Given the description of an element on the screen output the (x, y) to click on. 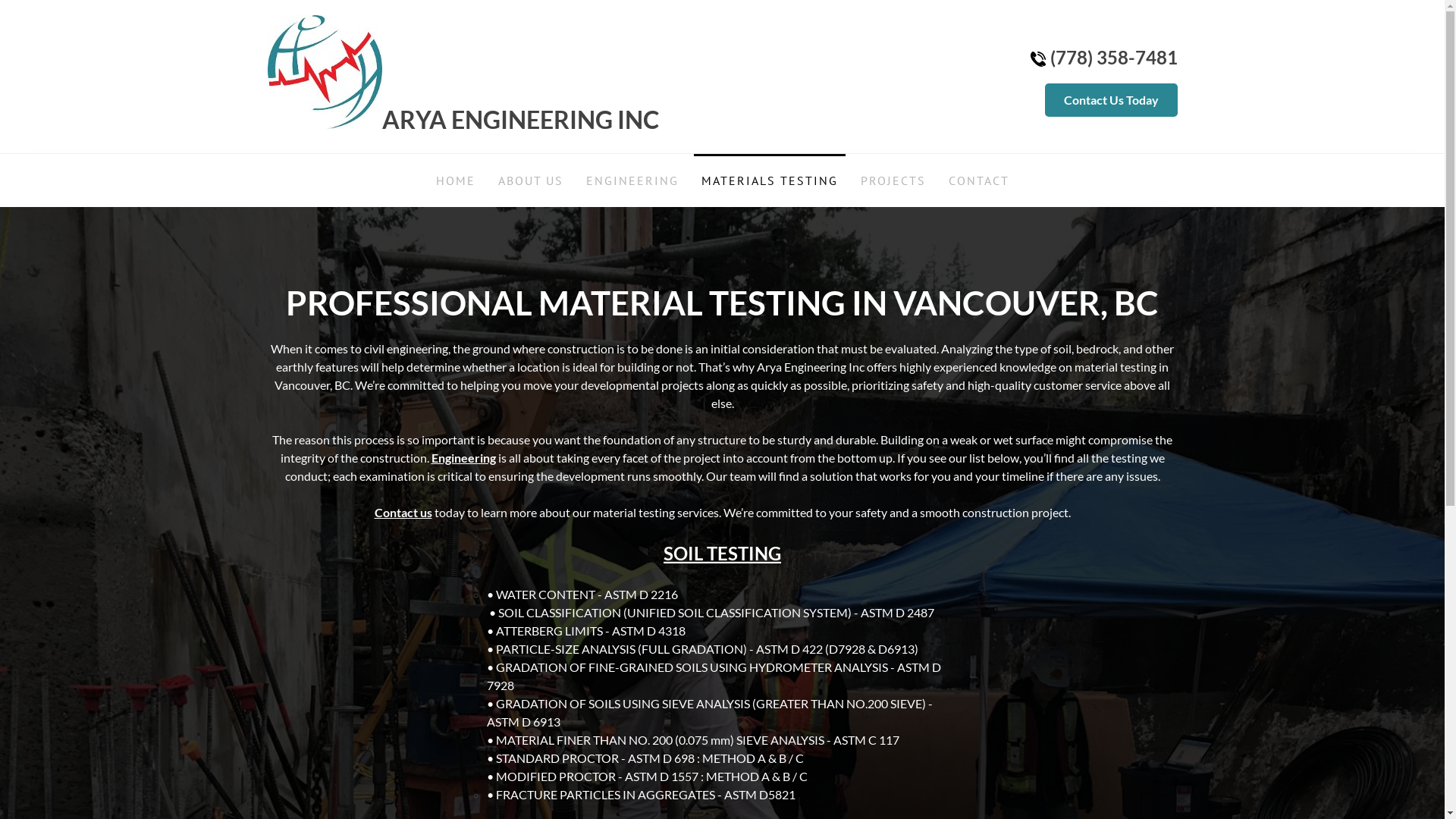
Engineering Element type: text (462, 457)
HOME Element type: text (454, 180)
Arya Logo Element type: hover (323, 71)
PROJECTS Element type: text (892, 180)
ABOUT US Element type: text (529, 180)
MATERIALS TESTING Element type: text (768, 180)
Contact Us Today Element type: text (1110, 99)
CONTACT Element type: text (978, 180)
Contact us Element type: text (403, 512)
ENGINEERING Element type: text (631, 180)
